Given the description of an element on the screen output the (x, y) to click on. 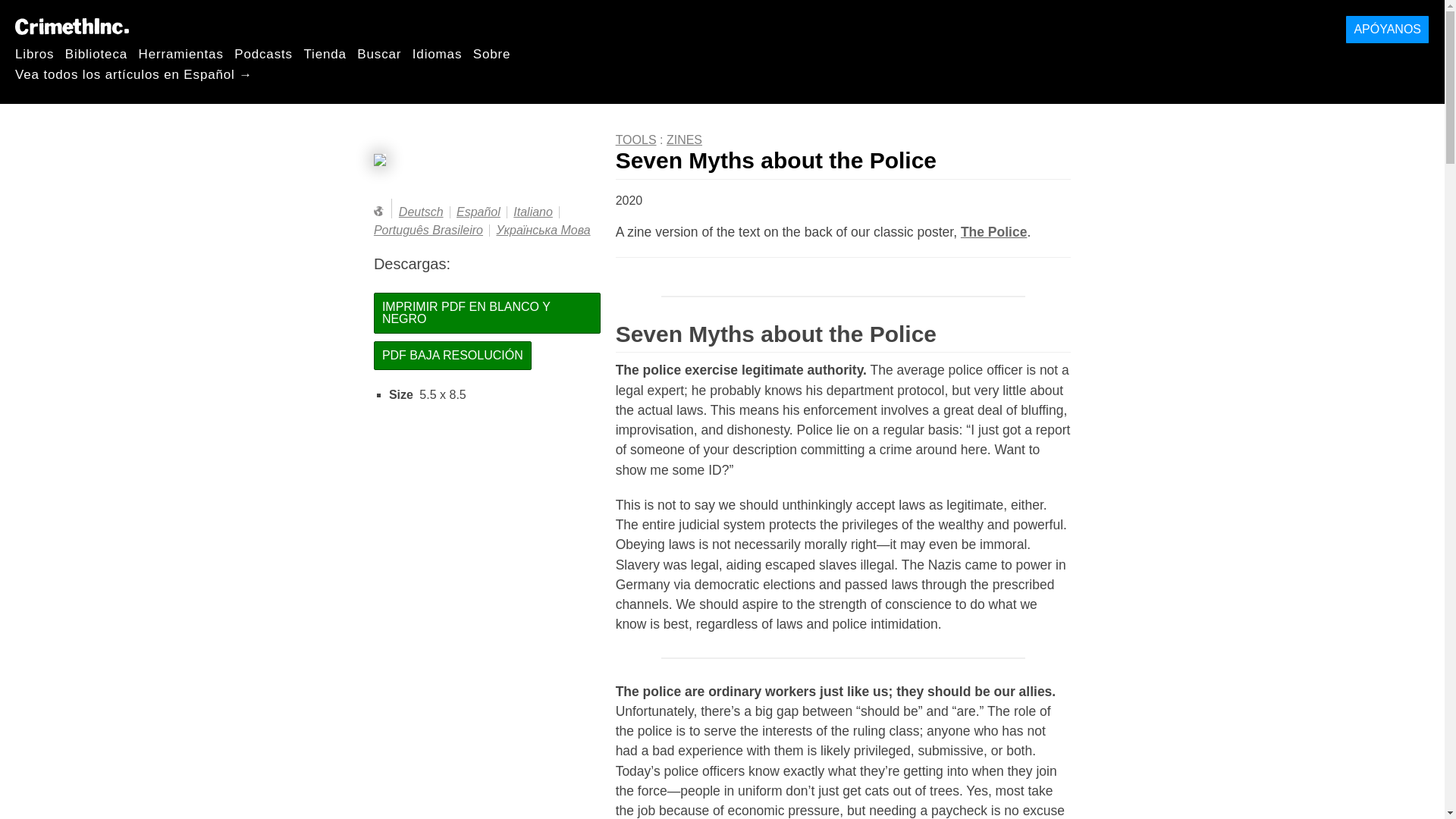
ZINES (683, 139)
Biblioteca (96, 53)
Sobre (492, 53)
Buscar (378, 53)
Herramientas (181, 53)
Italiano (533, 211)
Deutsch (421, 211)
Podcasts (263, 53)
Idiomas (436, 53)
IMPRIMIR PDF EN BLANCO Y NEGRO (486, 312)
Seven Myths about the Police (842, 162)
Libros (33, 53)
Tienda (324, 53)
The Police (993, 231)
CrimethInc. (71, 26)
